Given the description of an element on the screen output the (x, y) to click on. 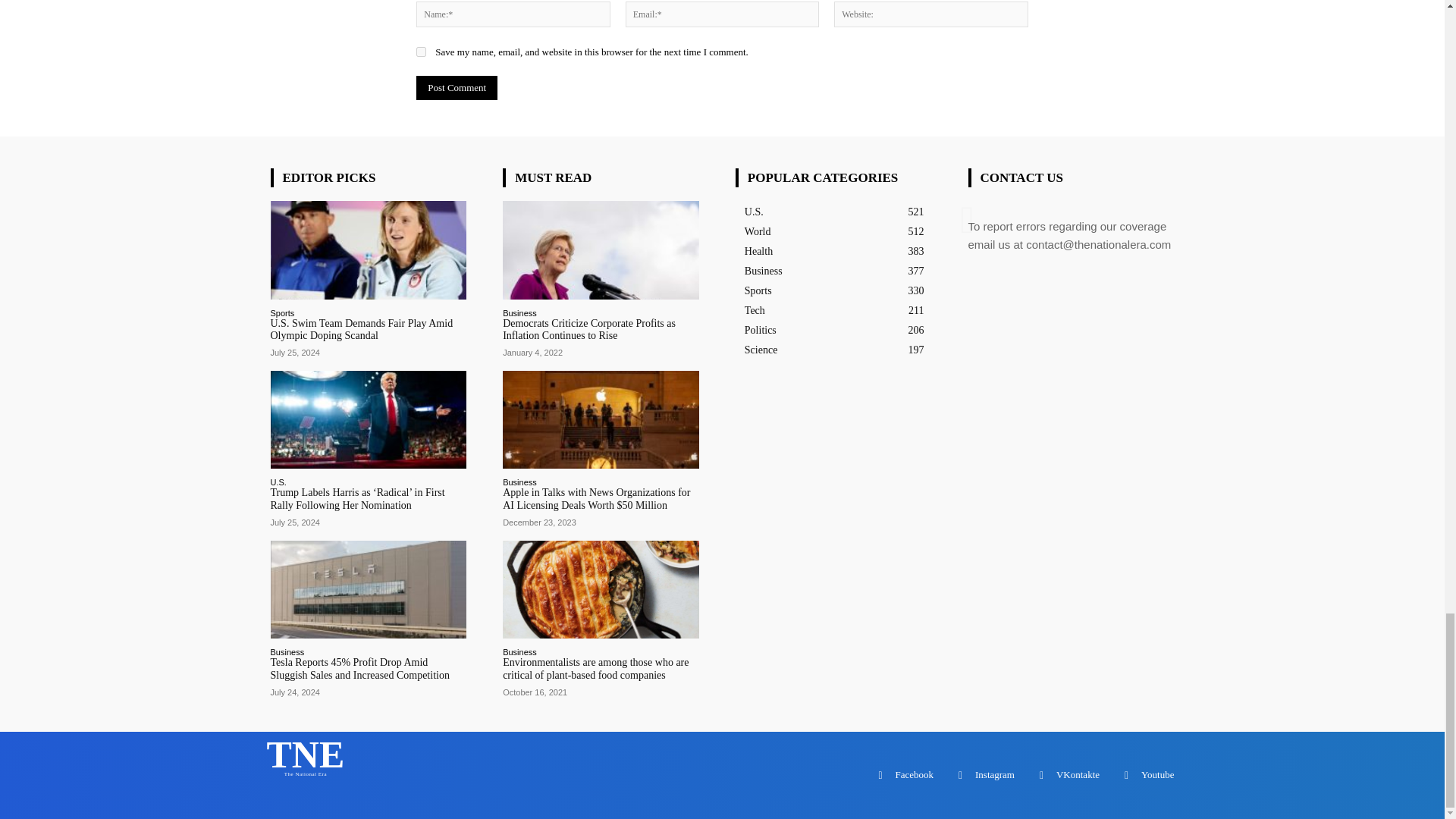
Post Comment (456, 87)
yes (421, 51)
